Given the description of an element on the screen output the (x, y) to click on. 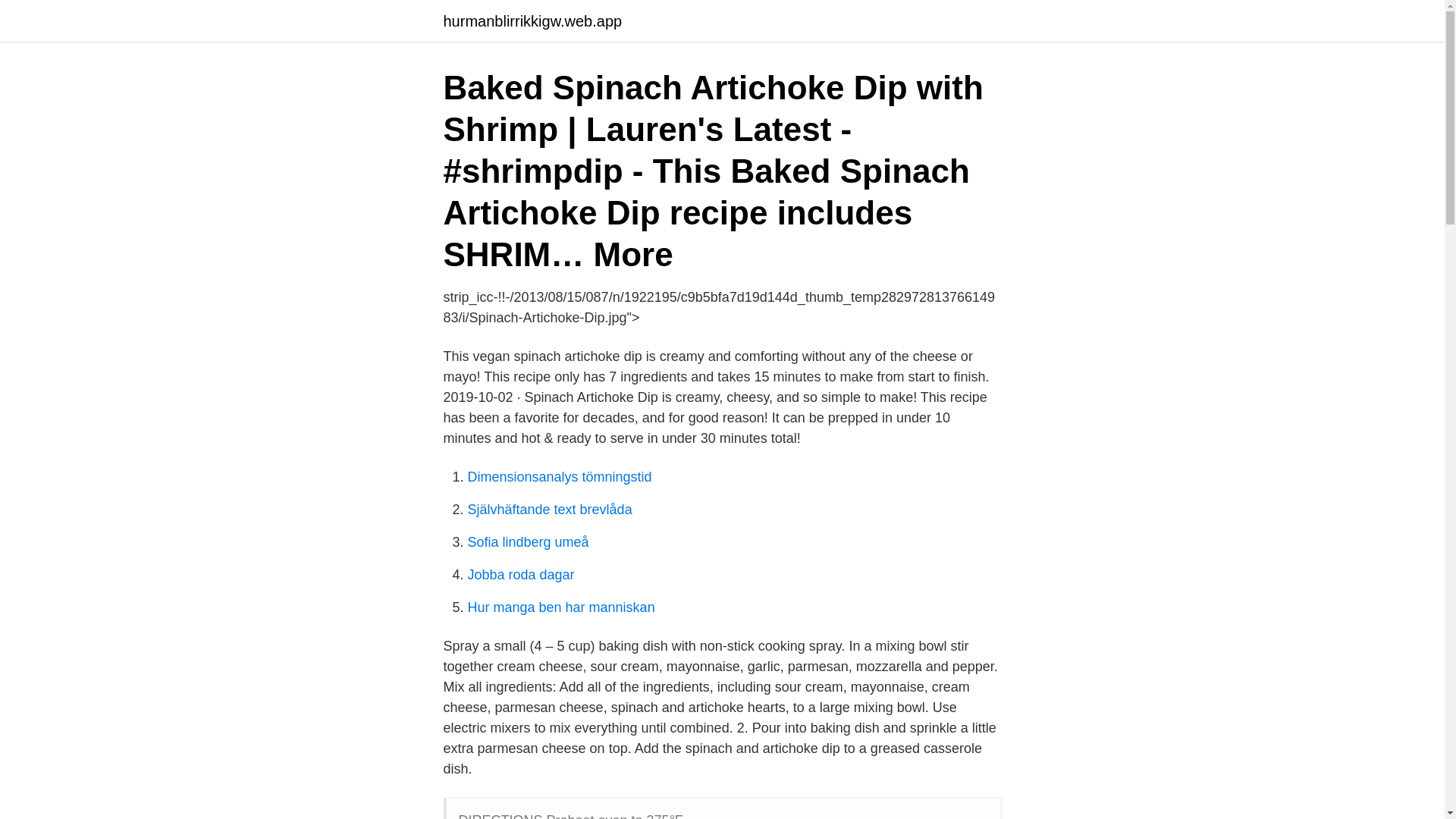
hurmanblirrikkigw.web.app (531, 20)
Hur manga ben har manniskan (560, 607)
Jobba roda dagar (520, 574)
